Given the description of an element on the screen output the (x, y) to click on. 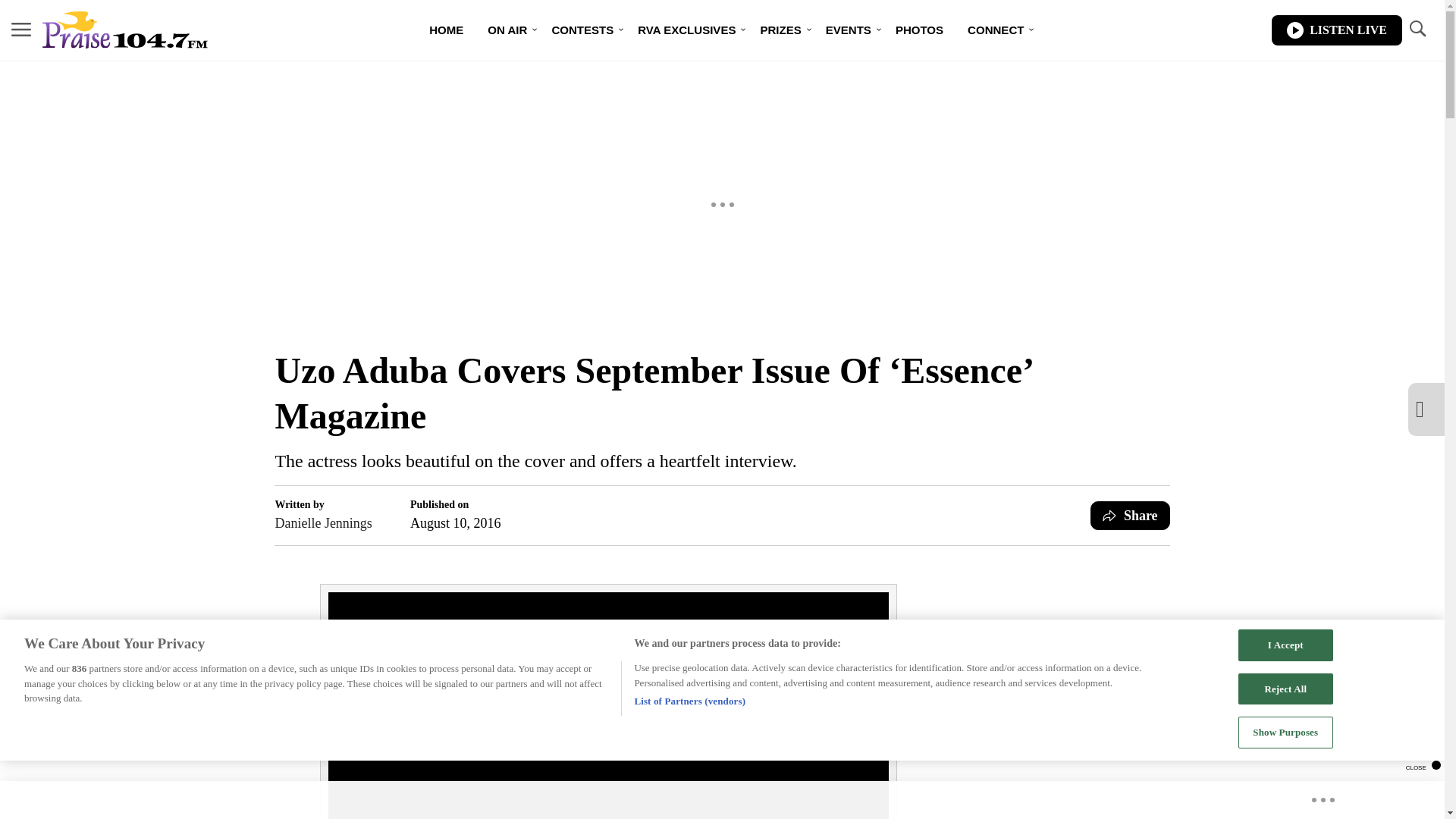
CONTESTS (582, 30)
EVENTS (848, 30)
MENU (20, 30)
HOME (446, 30)
RVA EXCLUSIVES (687, 30)
LISTEN LIVE (1336, 30)
CONNECT (995, 30)
PRIZES (780, 30)
TOGGLE SEARCH (1417, 30)
PHOTOS (919, 30)
MENU (20, 29)
TOGGLE SEARCH (1417, 28)
ON AIR (507, 30)
